Given the description of an element on the screen output the (x, y) to click on. 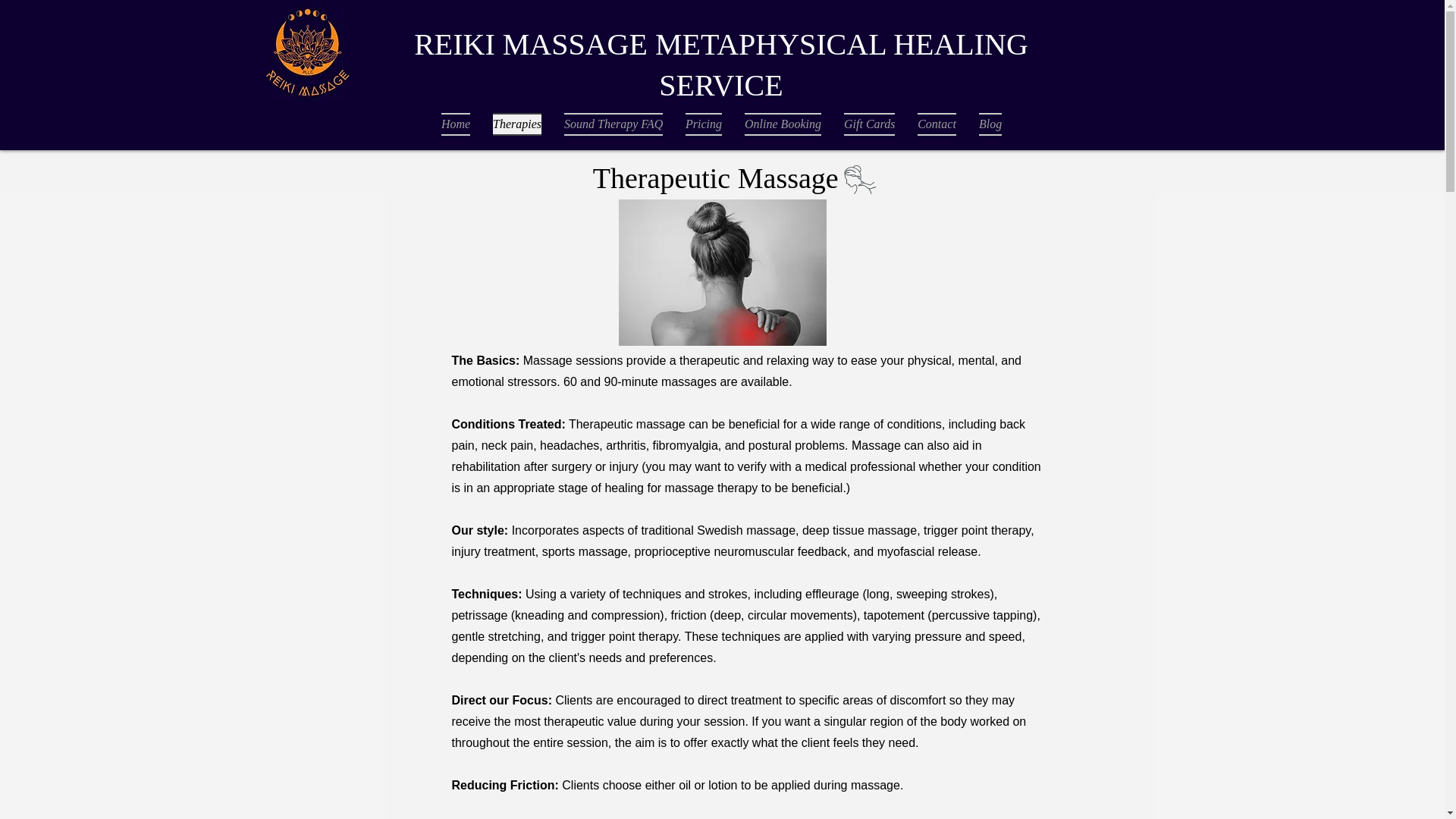
Home (455, 124)
Contact (936, 124)
Pricing (703, 124)
Sound Therapy FAQ (613, 124)
Online Booking (782, 124)
Therapies (517, 124)
Blog (990, 124)
Gift Cards (868, 124)
